Given the description of an element on the screen output the (x, y) to click on. 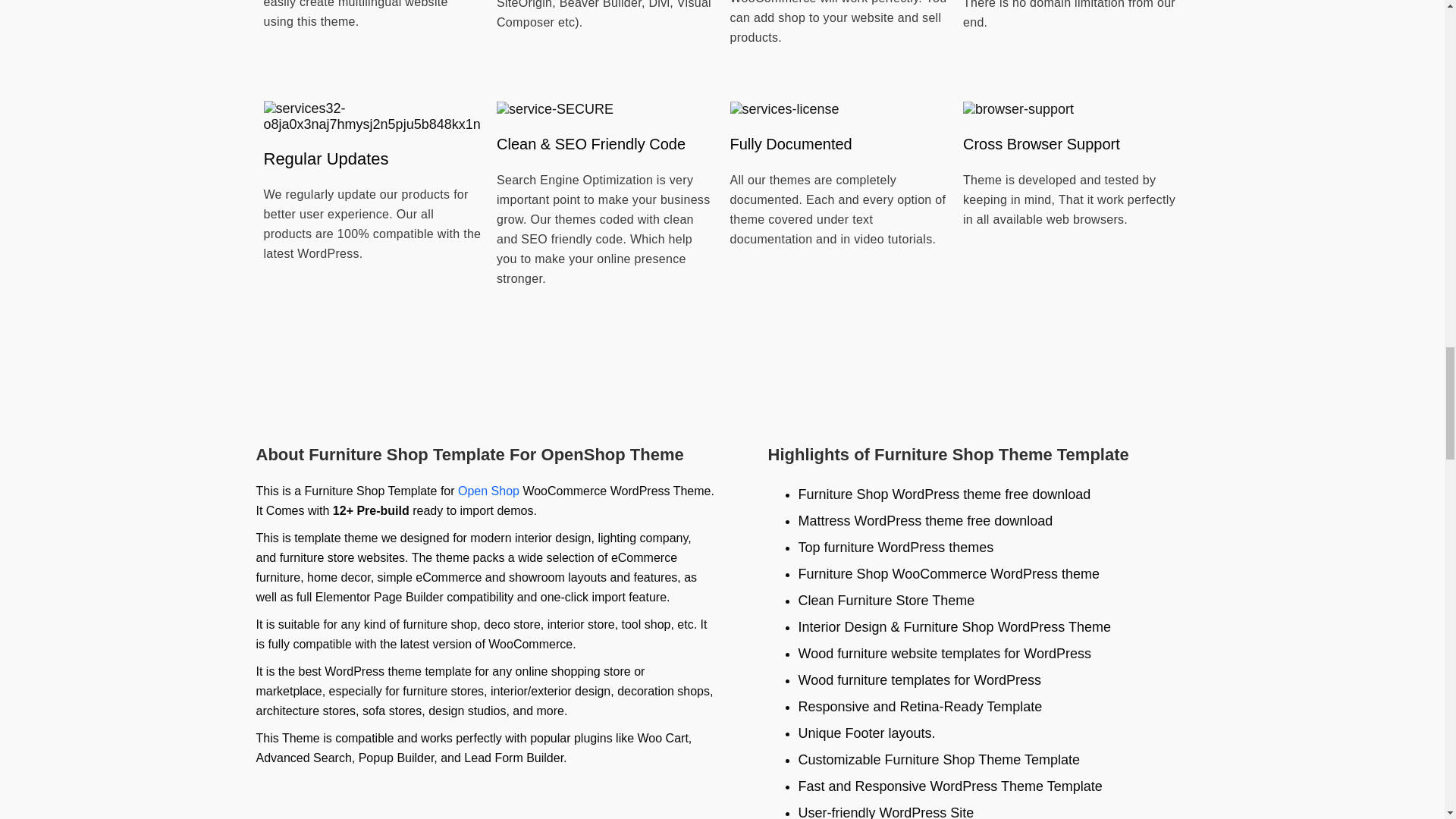
Open Shop (488, 490)
services-license (783, 109)
services32-o8ja0x3naj7hmysj2n5pju5b848kx1npcuym9a2wow (372, 116)
service-SECURE (554, 109)
browser-support (1018, 109)
